Given the description of an element on the screen output the (x, y) to click on. 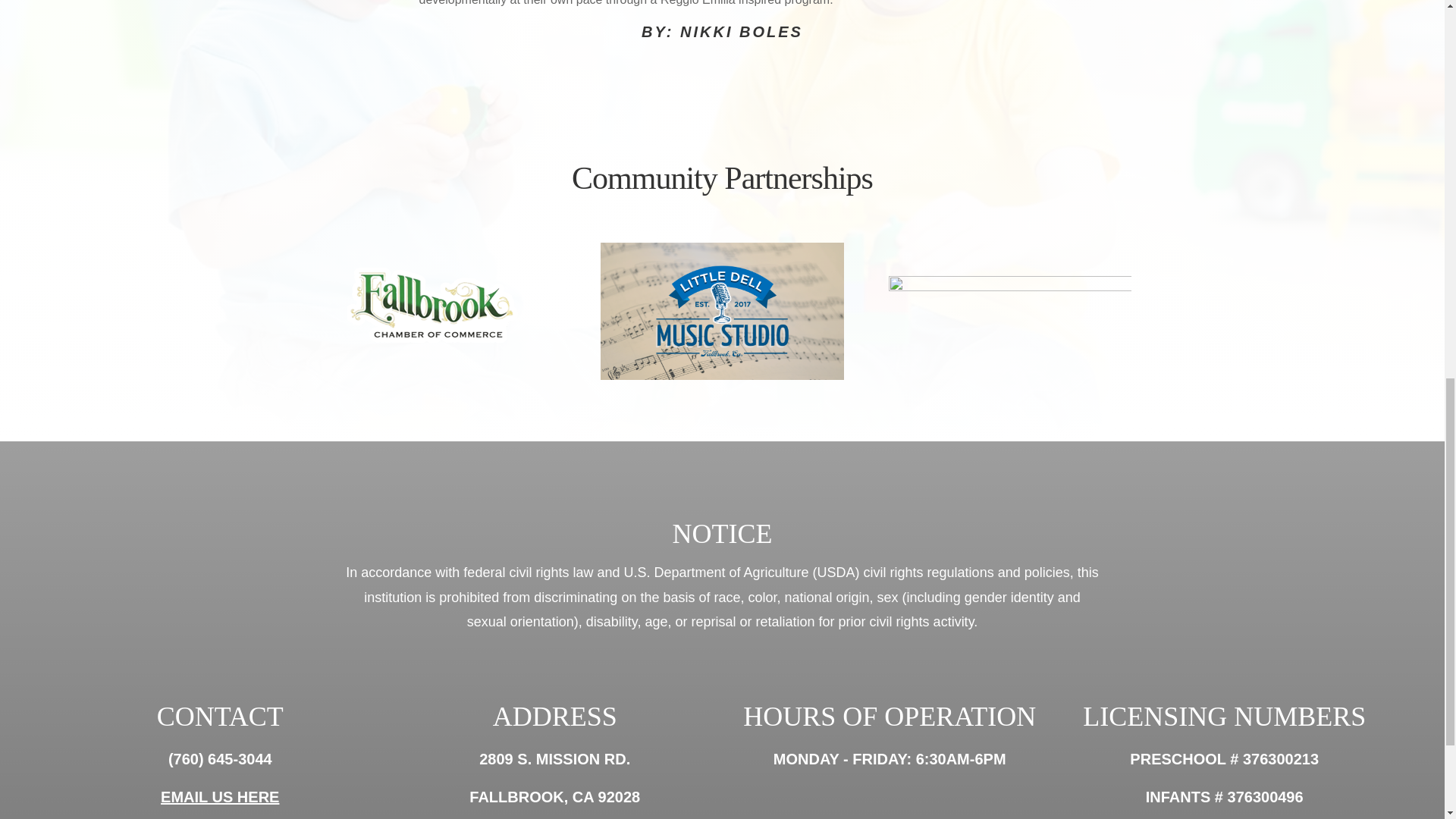
little-dell-front-cover (721, 311)
EMAIL US HERE (219, 796)
FCC (434, 305)
SQDPI (1009, 314)
